Given the description of an element on the screen output the (x, y) to click on. 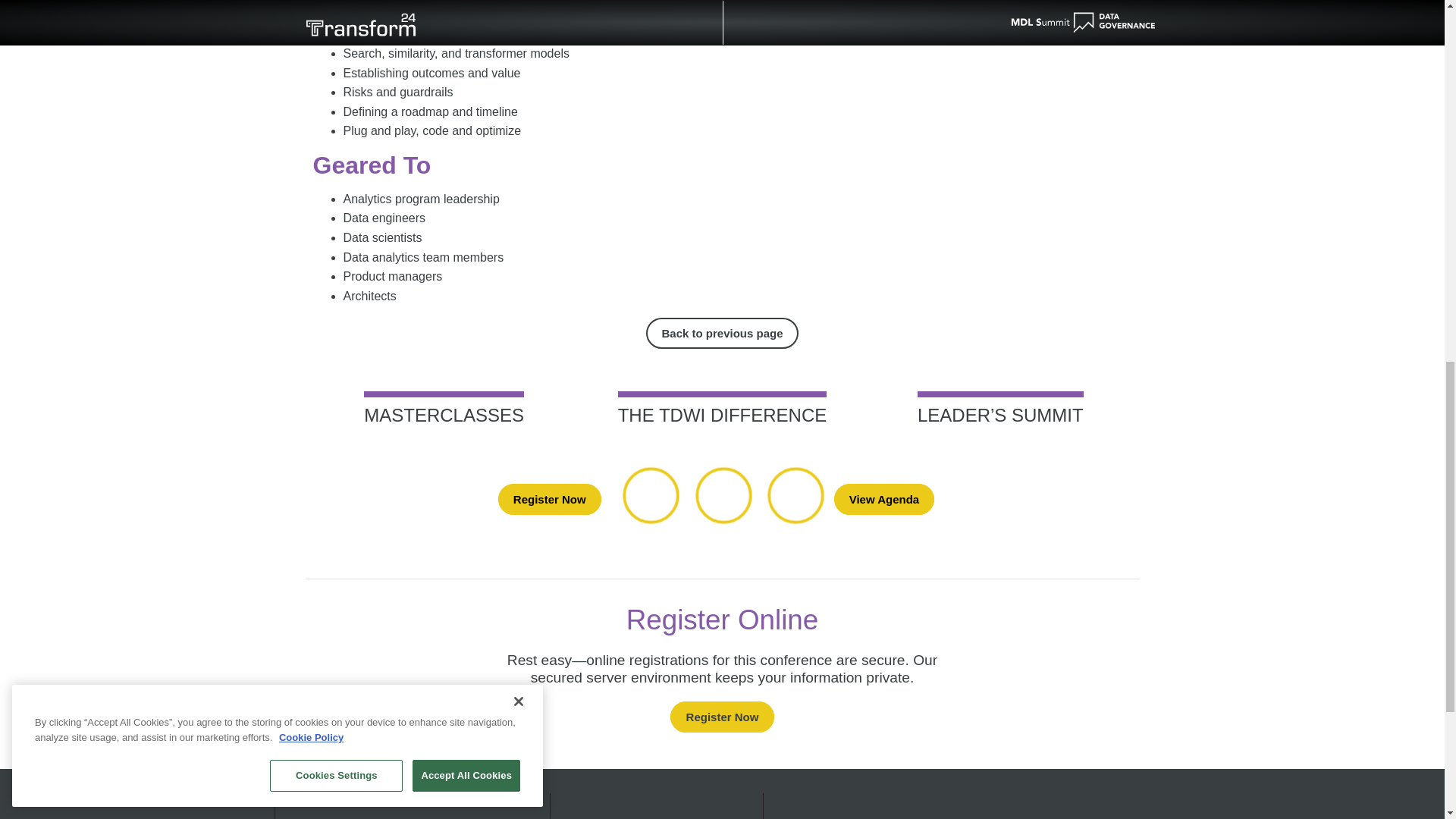
THE TDWI DIFFERENCE (722, 408)
MASTERCLASSES (444, 408)
Back to previous page (721, 332)
